Given the description of an element on the screen output the (x, y) to click on. 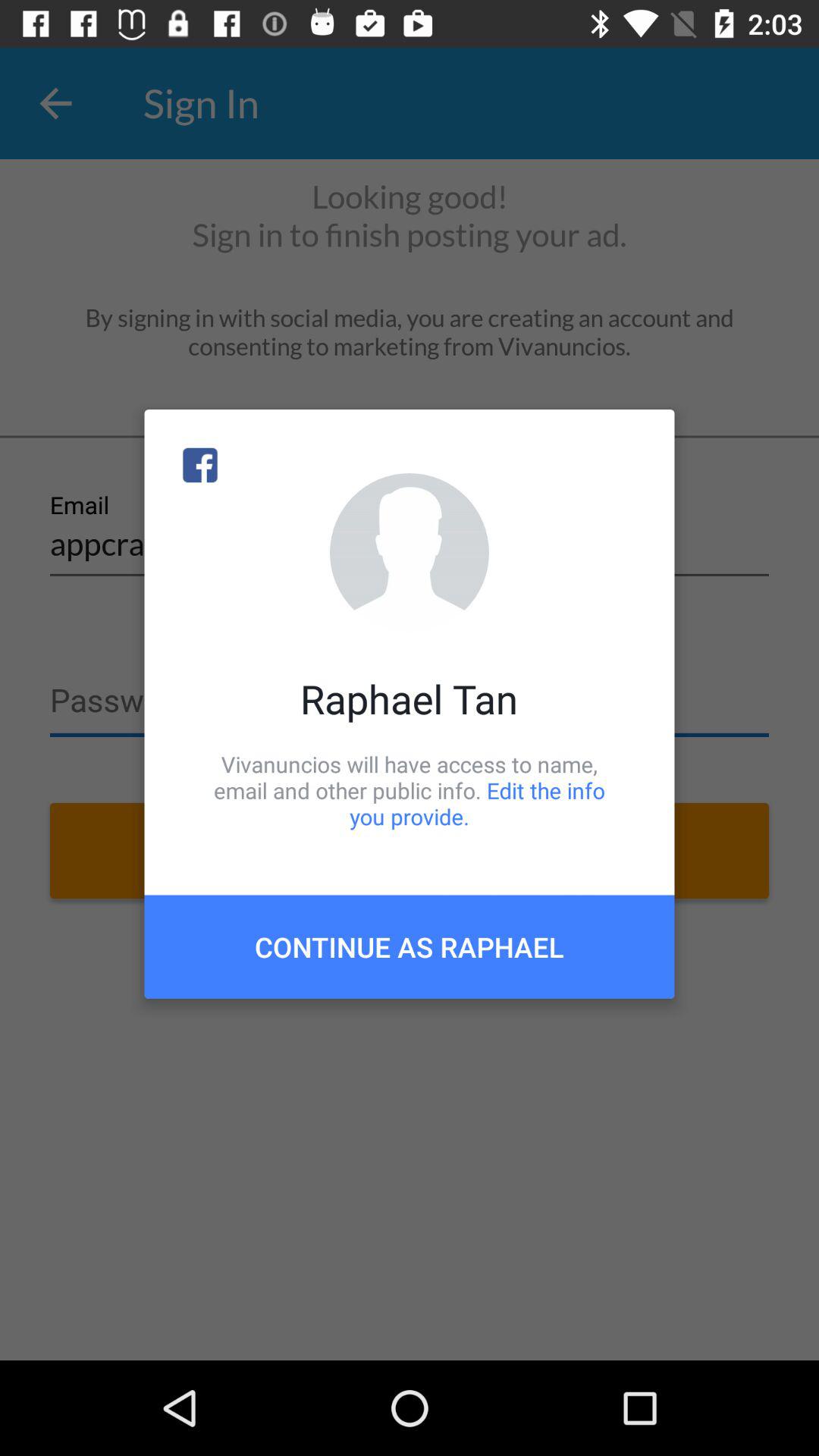
select the icon below raphael tan icon (409, 790)
